Given the description of an element on the screen output the (x, y) to click on. 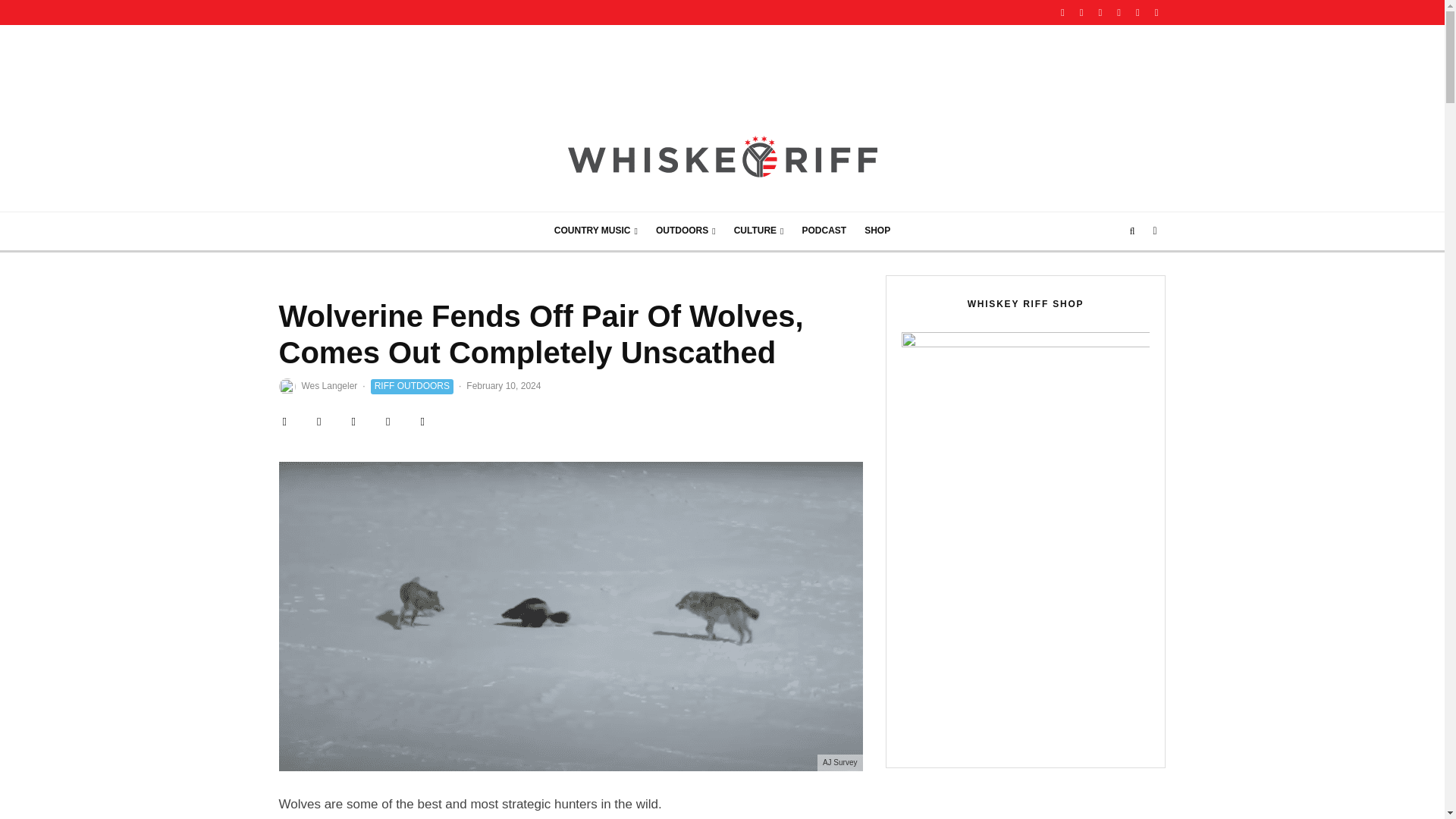
OUTDOORS (685, 231)
CULTURE (759, 231)
COUNTRY MUSIC (595, 231)
